Given the description of an element on the screen output the (x, y) to click on. 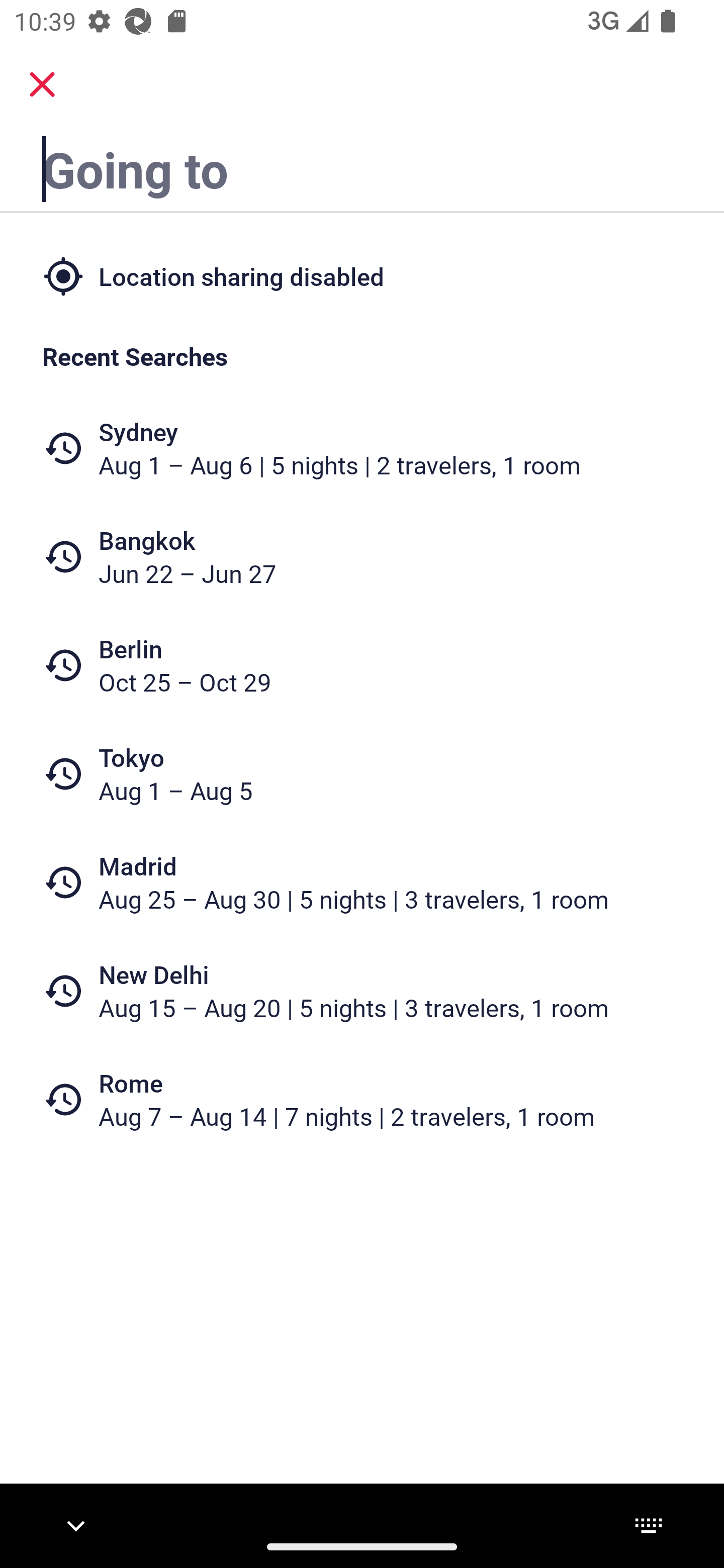
close. (42, 84)
Location sharing disabled (362, 275)
Bangkok Jun 22 – Jun 27 (362, 557)
Berlin Oct 25 – Oct 29 (362, 665)
Tokyo Aug 1 – Aug 5 (362, 773)
